Given the description of an element on the screen output the (x, y) to click on. 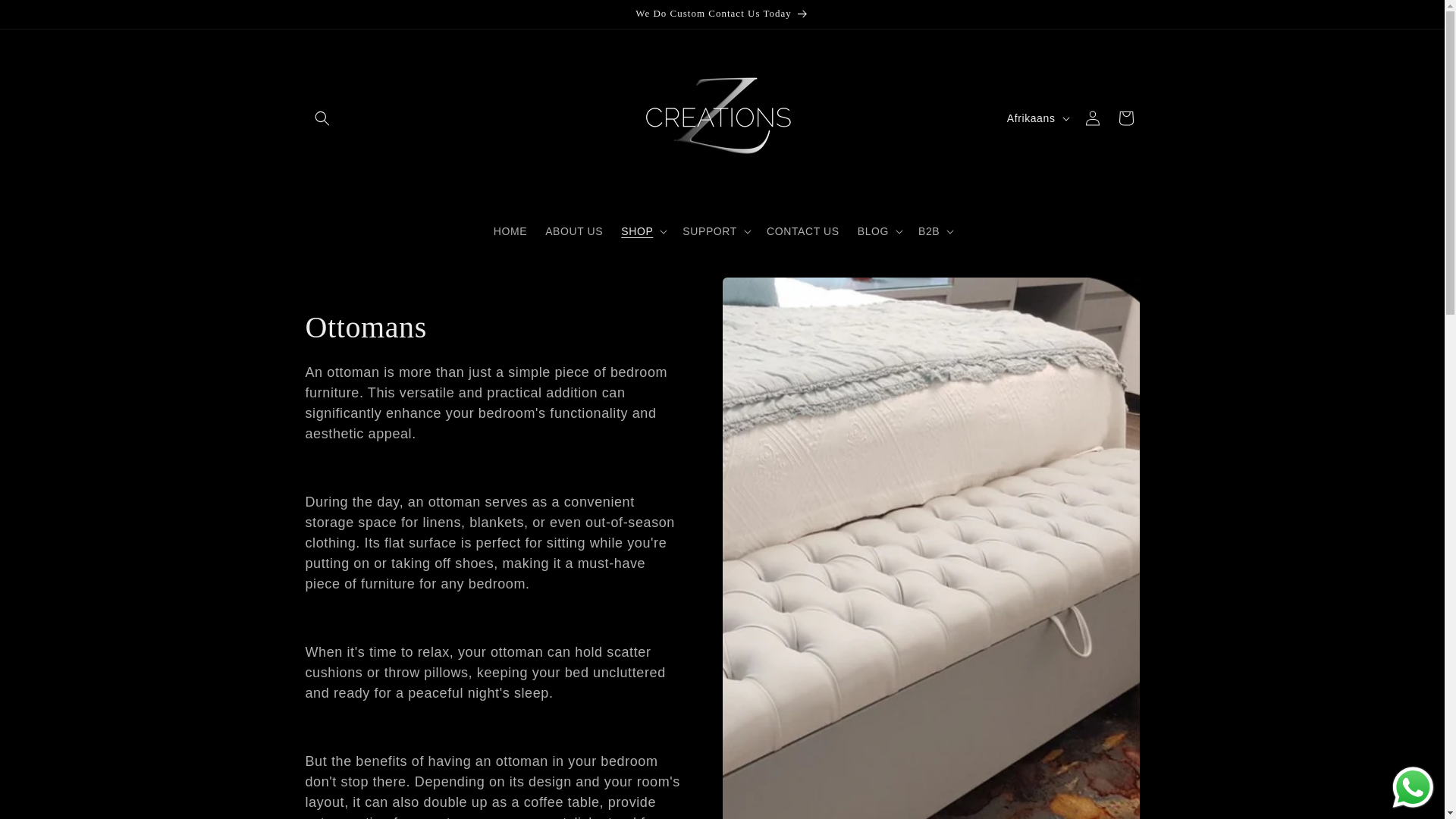
Skip to content (45, 17)
We Do Custom Contact Us Today (721, 14)
